Given the description of an element on the screen output the (x, y) to click on. 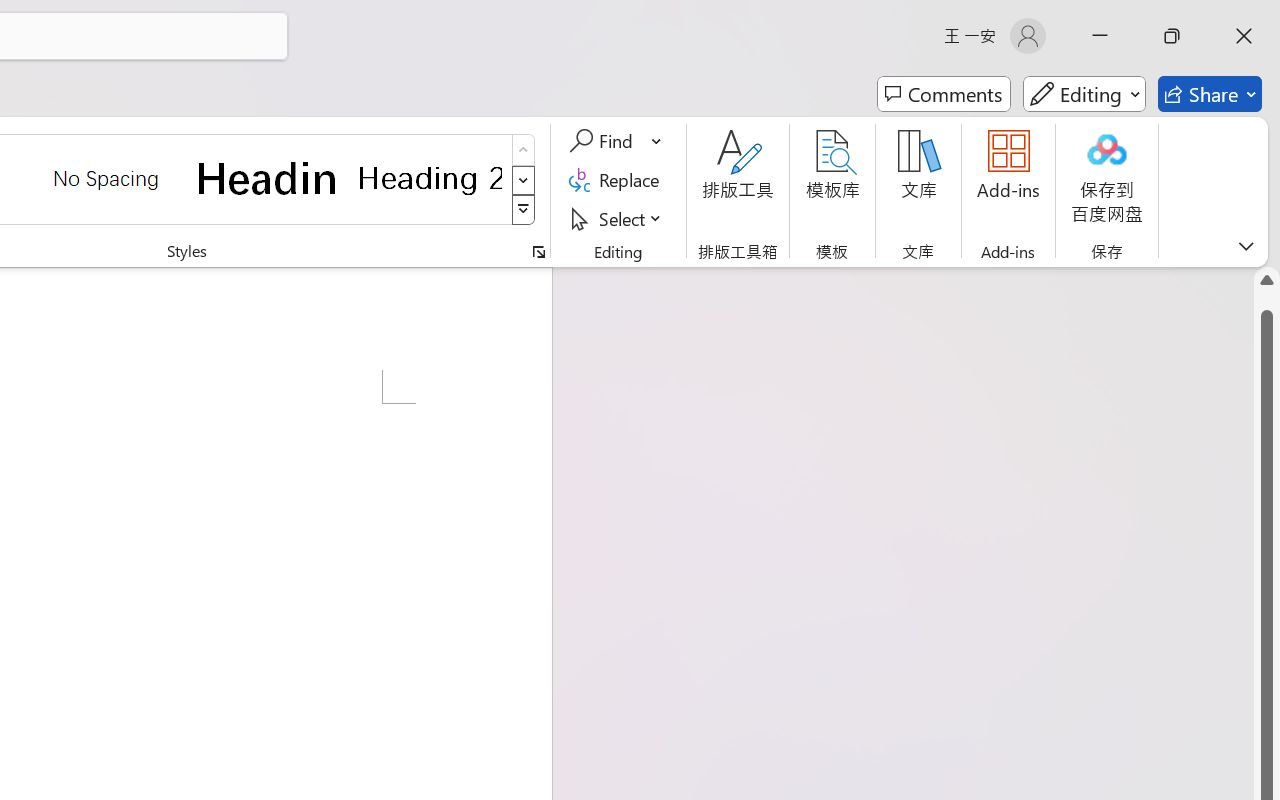
Styles... (538, 252)
Styles (523, 209)
Line up (1267, 279)
